Given the description of an element on the screen output the (x, y) to click on. 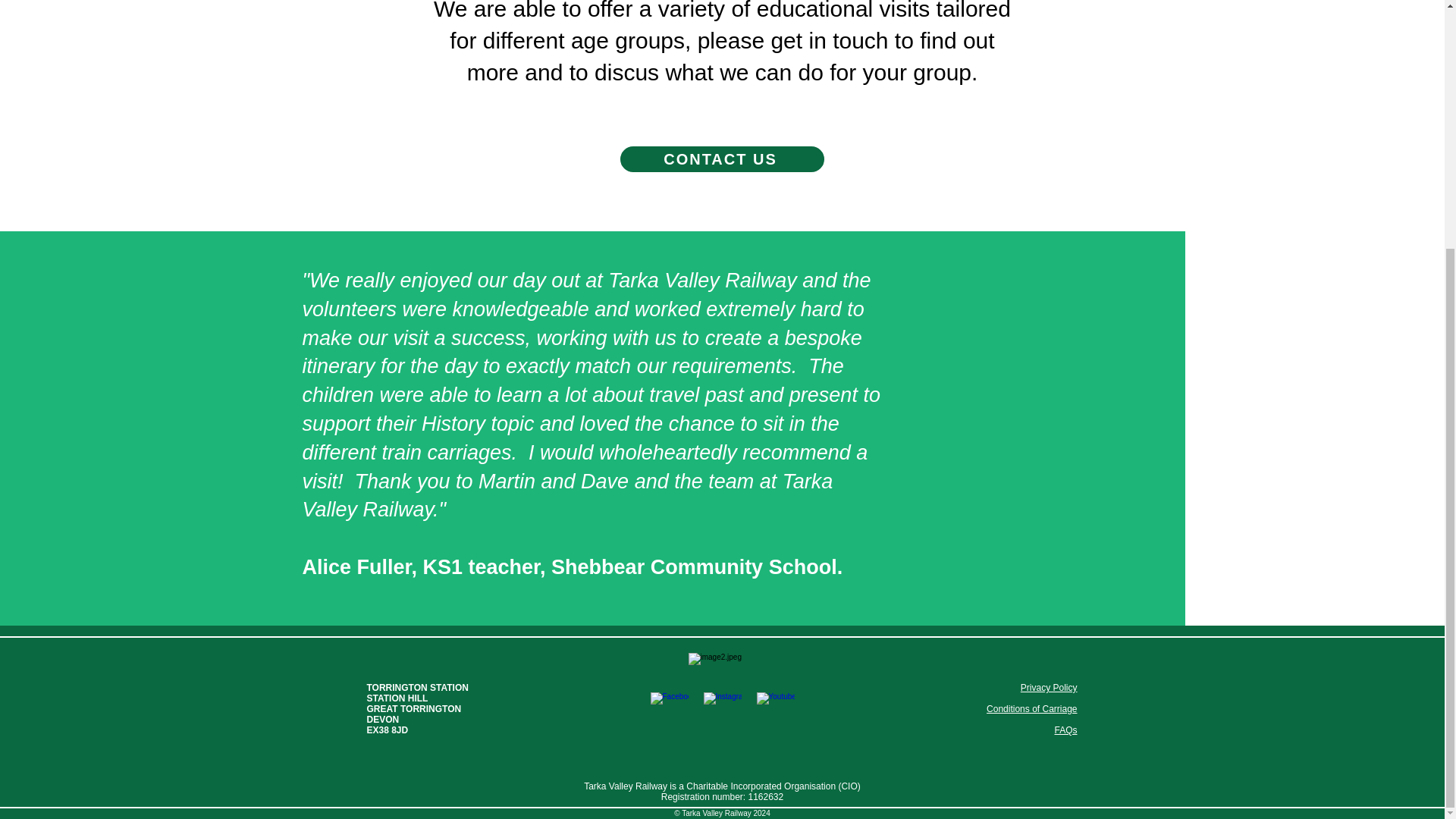
CONTACT US (721, 159)
Privacy Policy (1048, 687)
FAQs (1065, 729)
Conditions of Carriage (1032, 708)
